Given the description of an element on the screen output the (x, y) to click on. 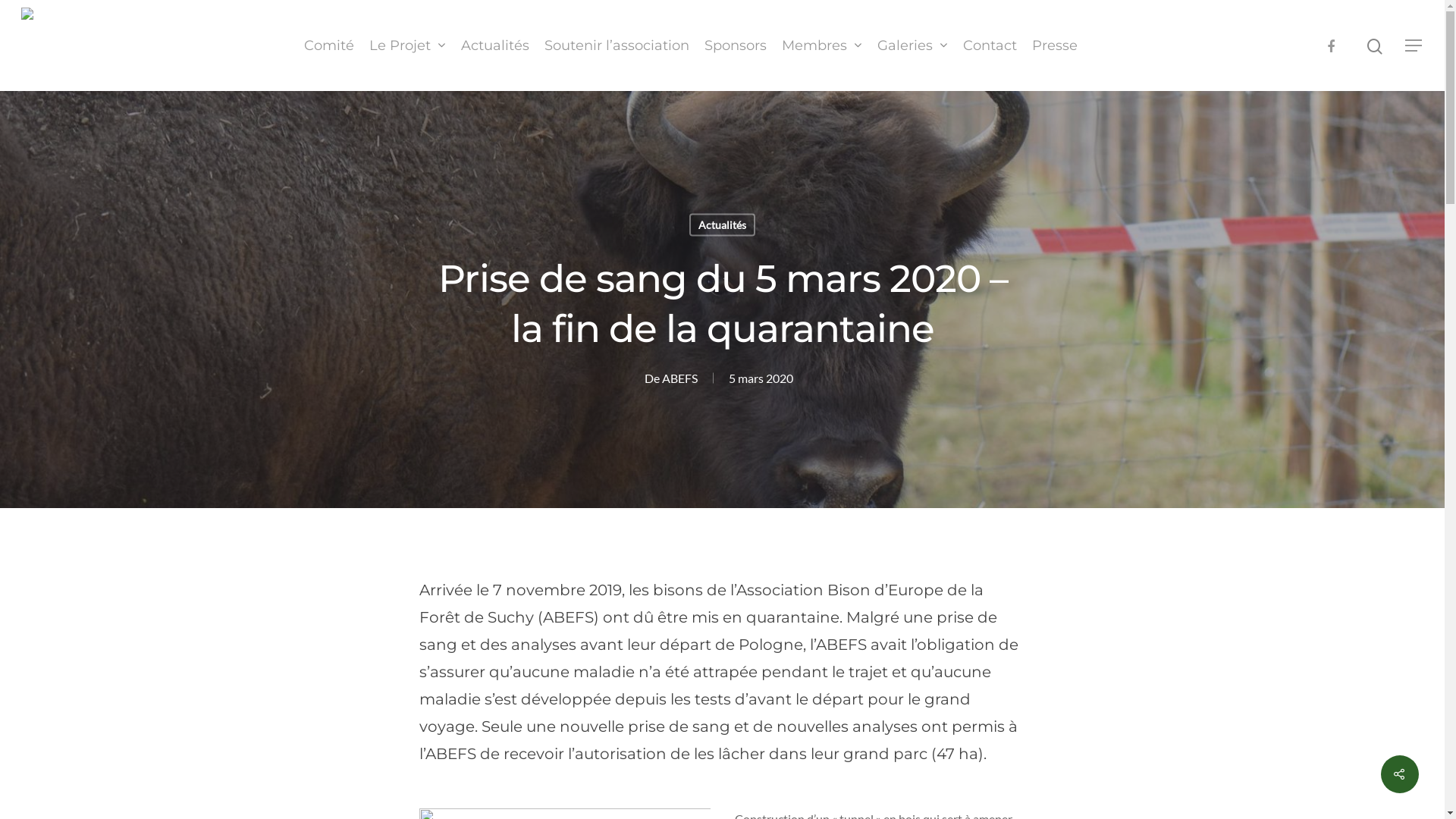
Galeries Element type: text (911, 45)
ABEFS Element type: text (678, 377)
Le Projet Element type: text (406, 45)
Membres Element type: text (821, 45)
Sponsors Element type: text (734, 45)
Contact Element type: text (989, 45)
Presse Element type: text (1053, 45)
